Given the description of an element on the screen output the (x, y) to click on. 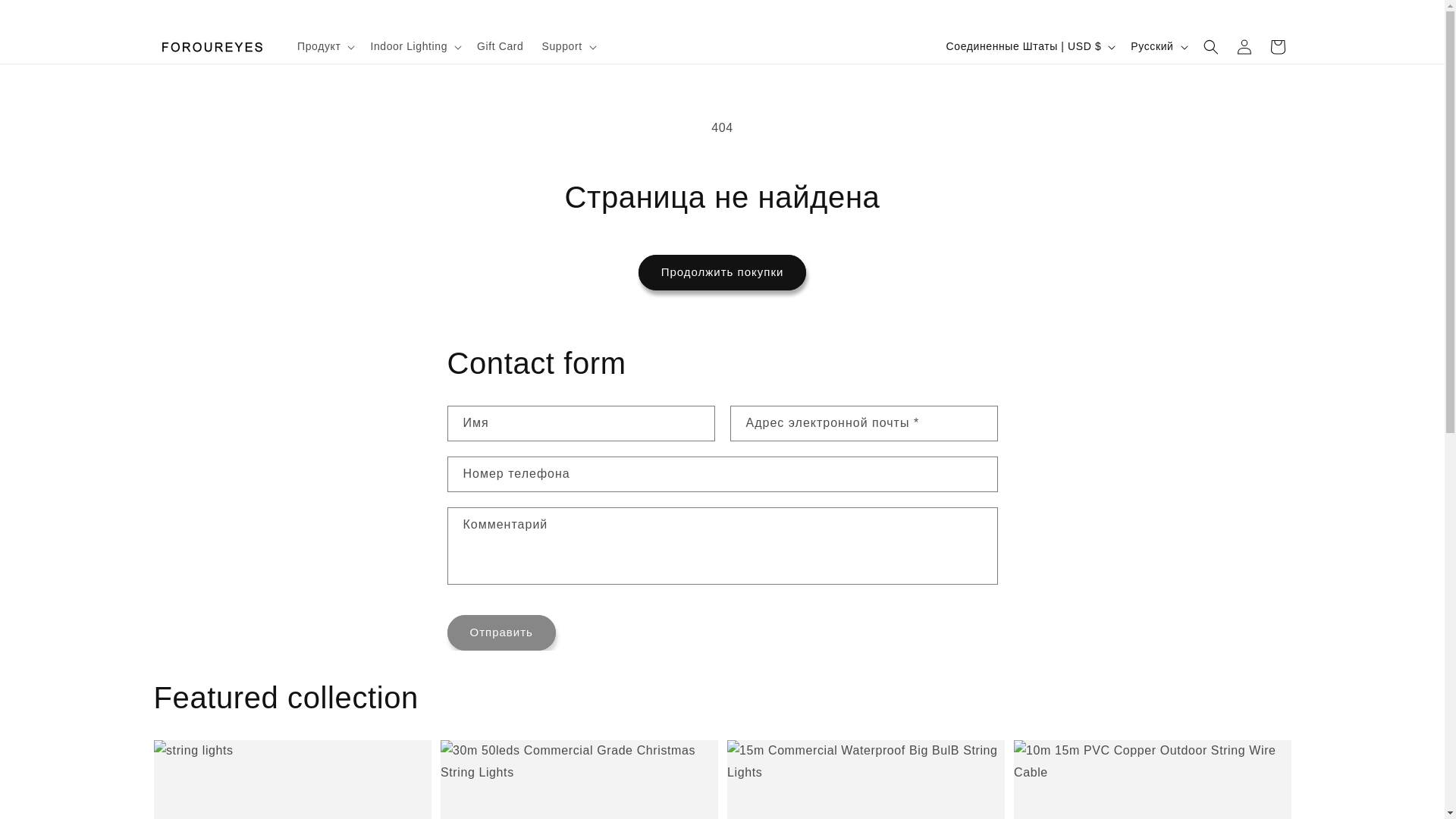
Gift Card (499, 46)
